Given the description of an element on the screen output the (x, y) to click on. 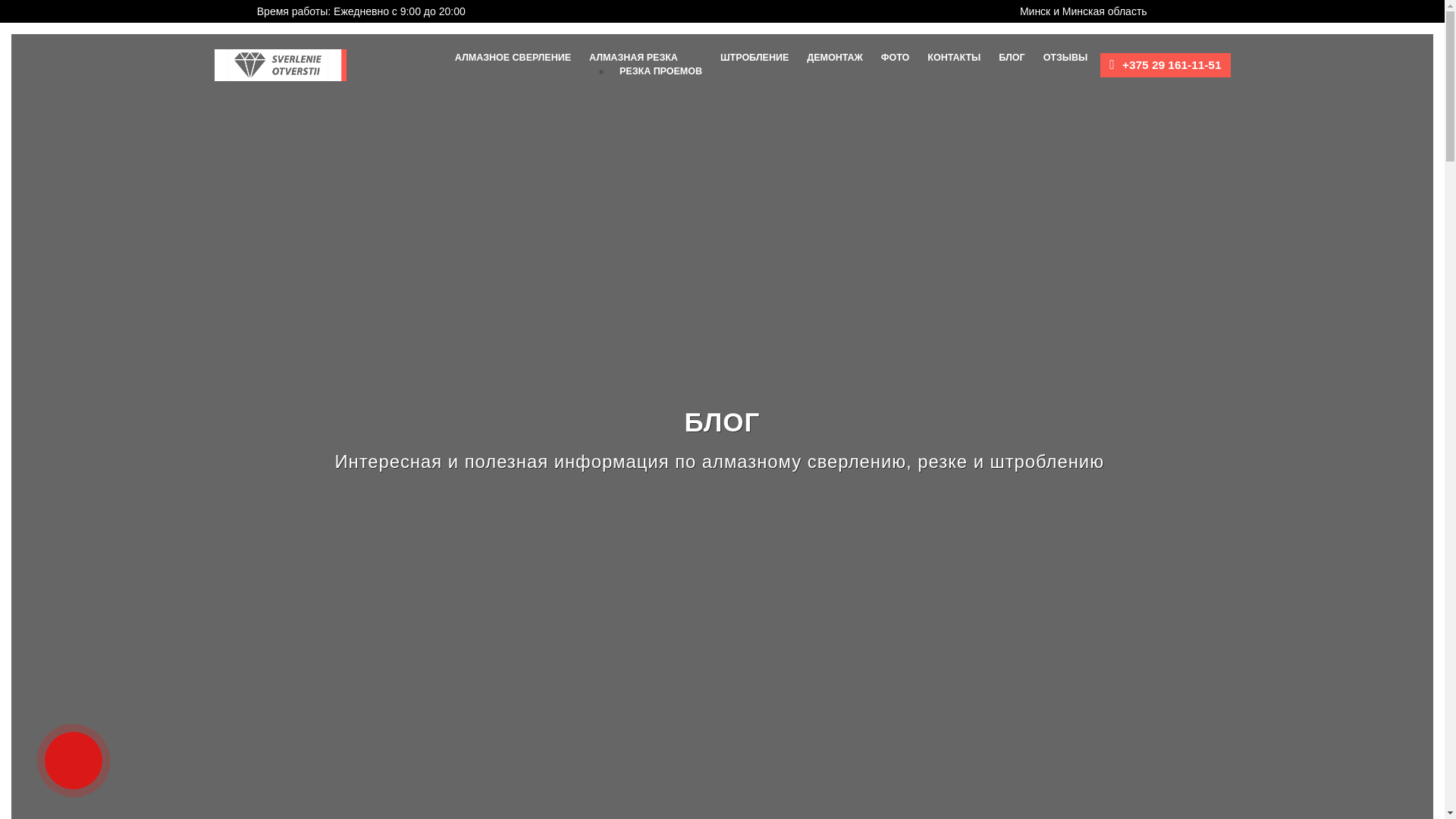
+375 29 161-11-51 Element type: text (1171, 64)
